Given the description of an element on the screen output the (x, y) to click on. 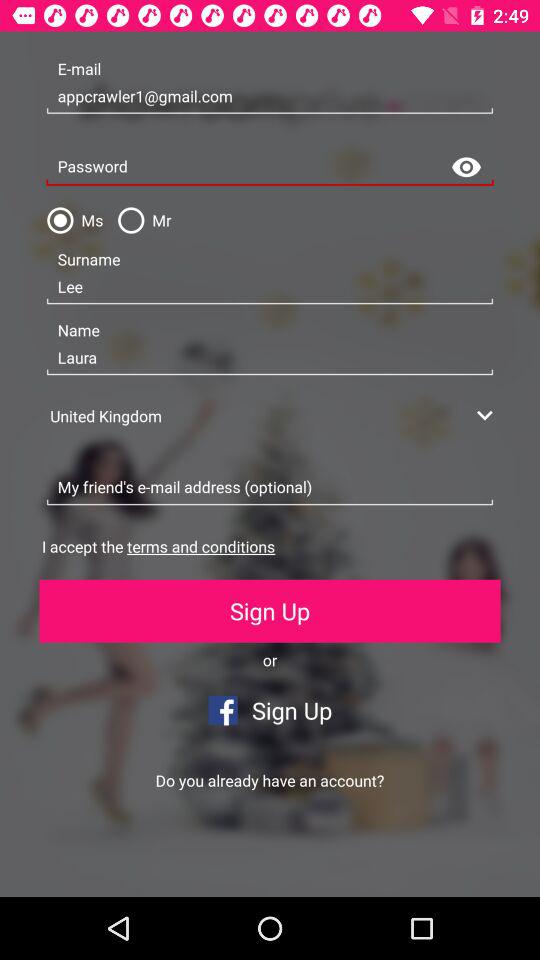
launch the icon below the lee item (269, 357)
